Given the description of an element on the screen output the (x, y) to click on. 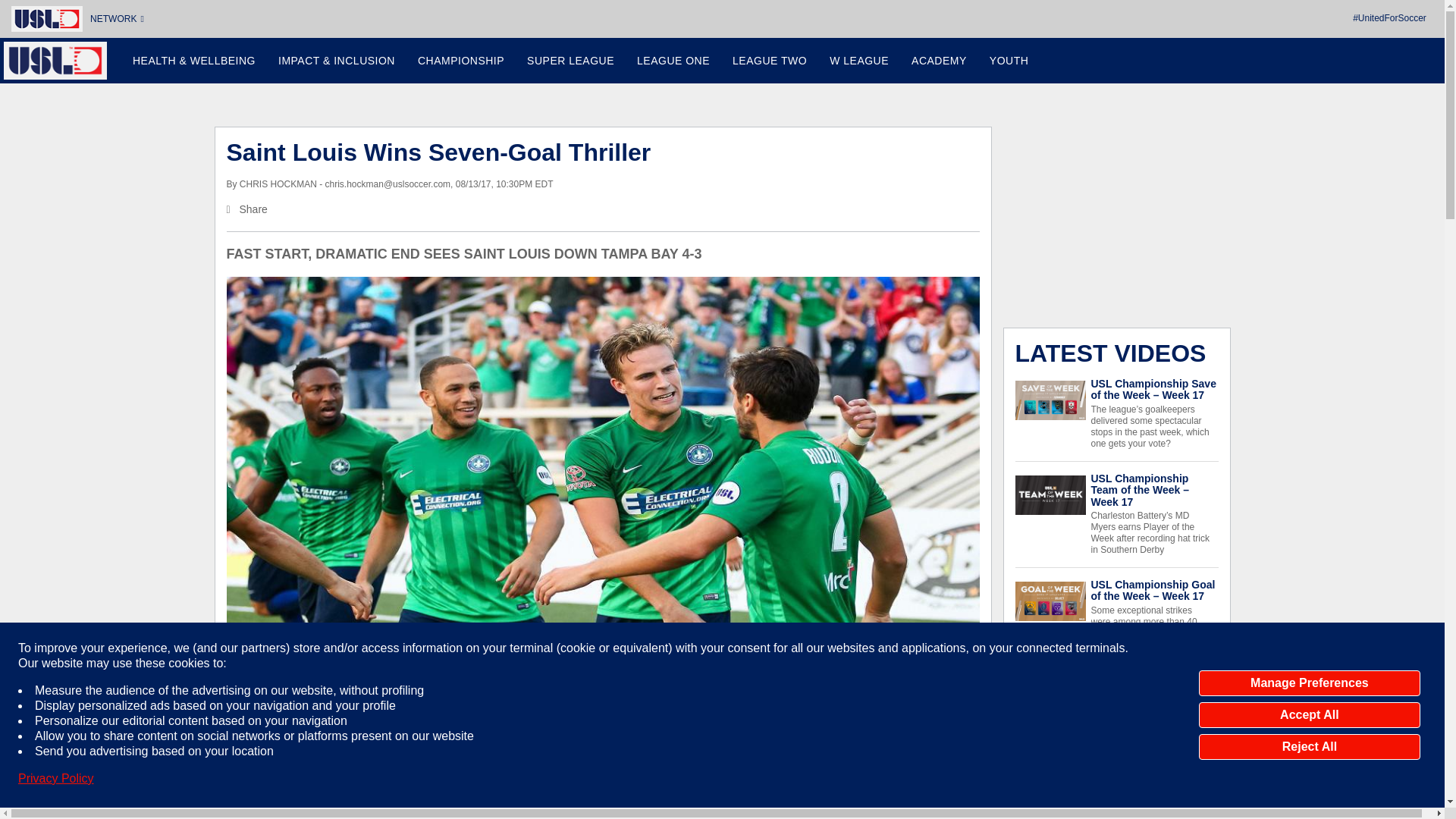
W League (858, 60)
click to go to 'USL Academy' (938, 60)
click to go to 'USL Super League' (570, 60)
Privacy Policy (55, 778)
click to go to 'USL Forward' (336, 60)
Accept All (1309, 714)
click to go to 'USL League One' (673, 60)
click to go to 'USL League Two' (769, 60)
Manage Preferences (1309, 683)
click to go to 'USL Championship' (460, 60)
USL Youth (1009, 60)
Reject All (1309, 746)
